Given the description of an element on the screen output the (x, y) to click on. 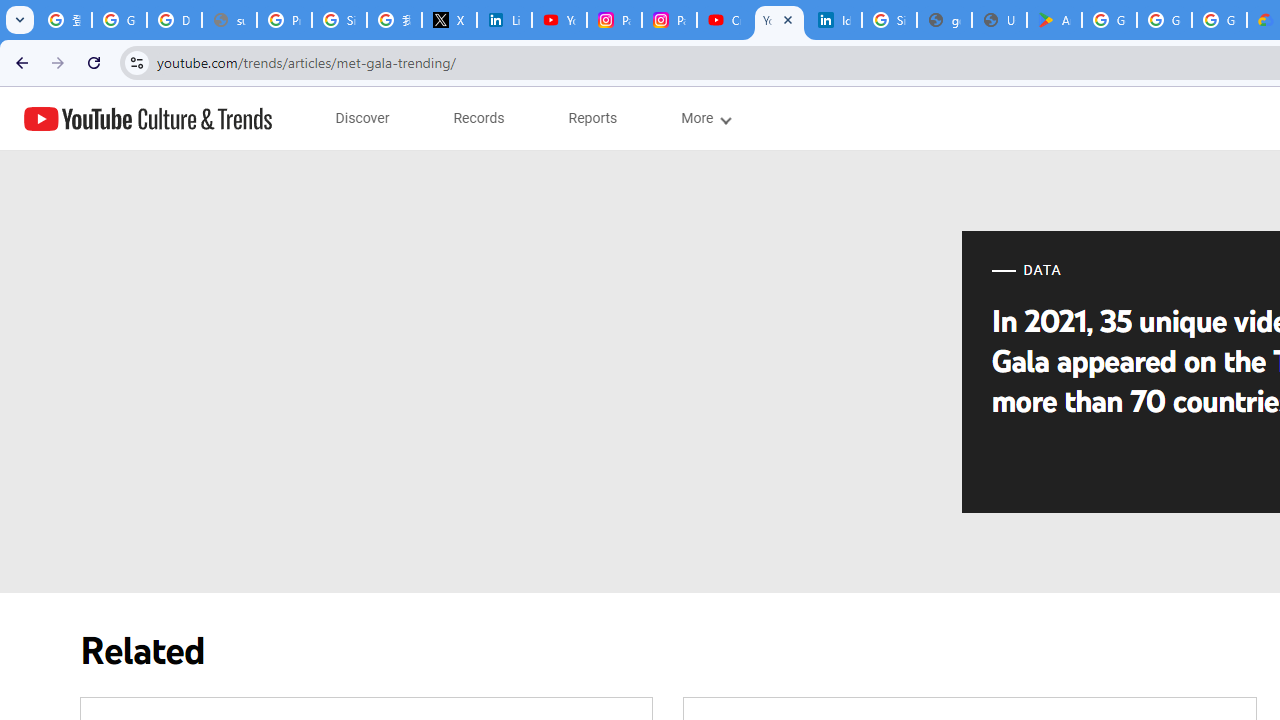
YouTube Content Monetization Policies - How YouTube Works (559, 20)
Privacy Help Center - Policies Help (284, 20)
YouTube Culture & Trends (147, 118)
subnav-More menupopup (704, 118)
subnav-Reports menupopup (593, 118)
subnav-Discover menupopup (362, 118)
